Given the description of an element on the screen output the (x, y) to click on. 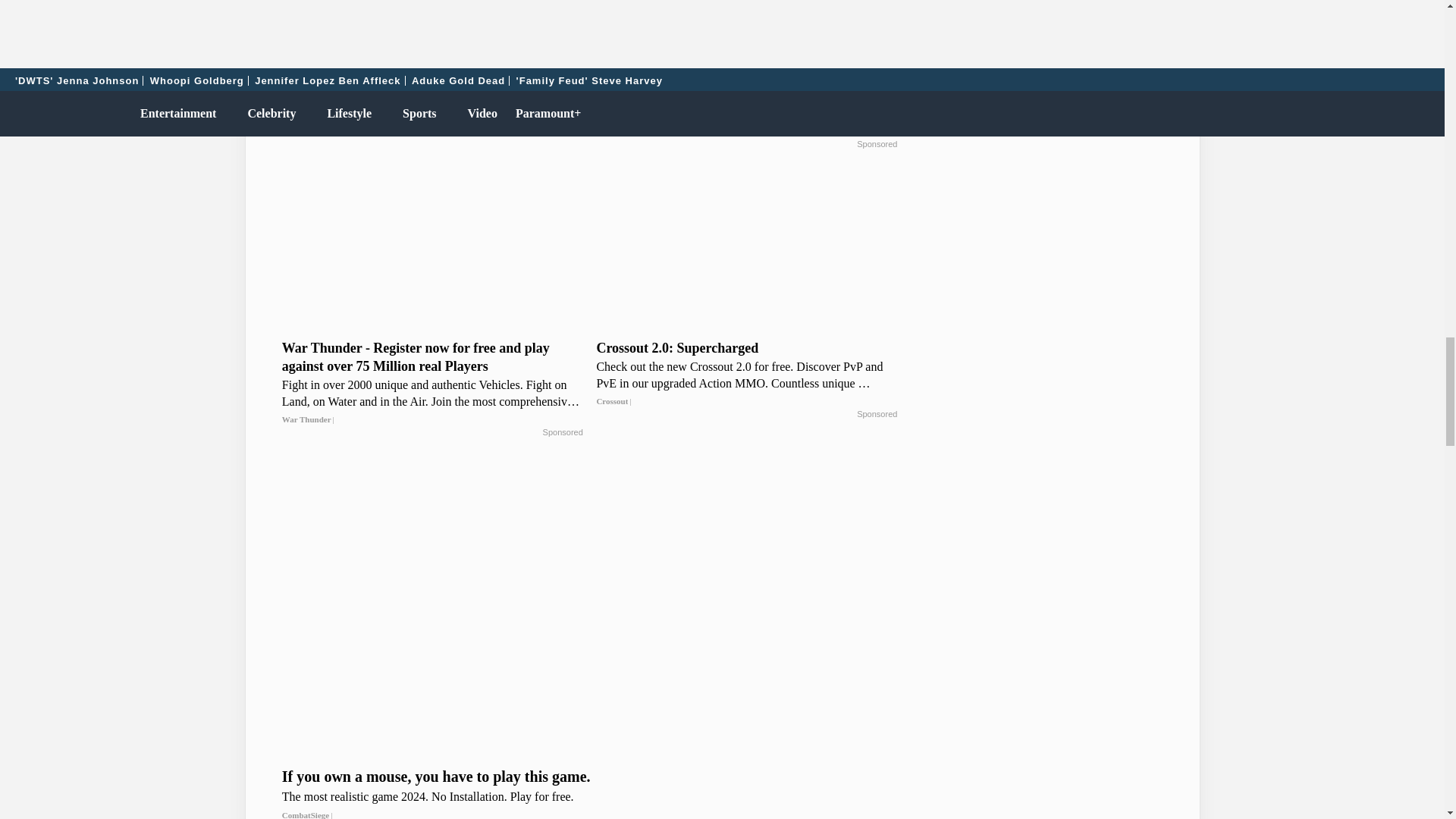
Crossout 2.0: Supercharged (746, 374)
